Given the description of an element on the screen output the (x, y) to click on. 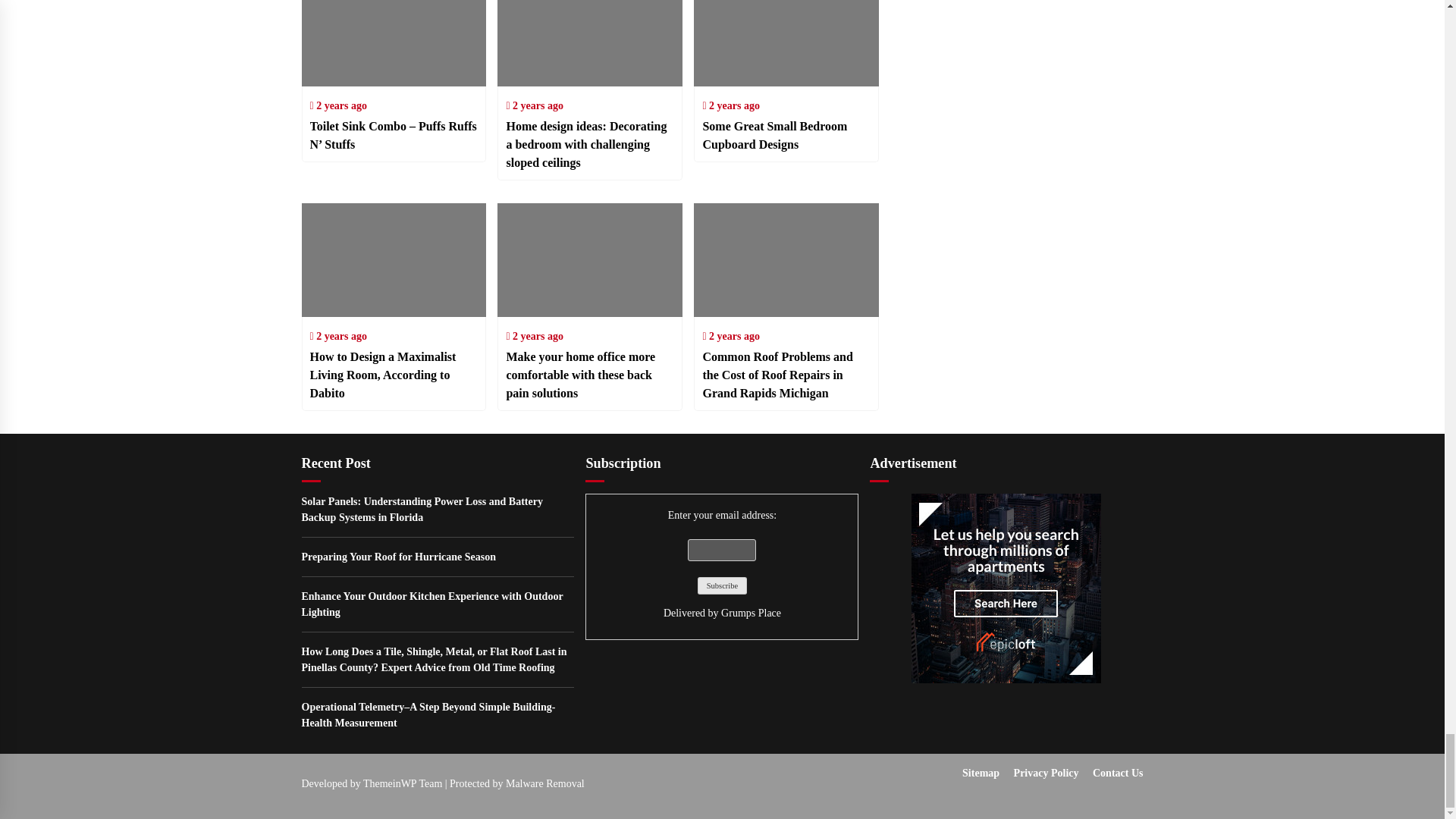
Subscribe (721, 585)
